Given the description of an element on the screen output the (x, y) to click on. 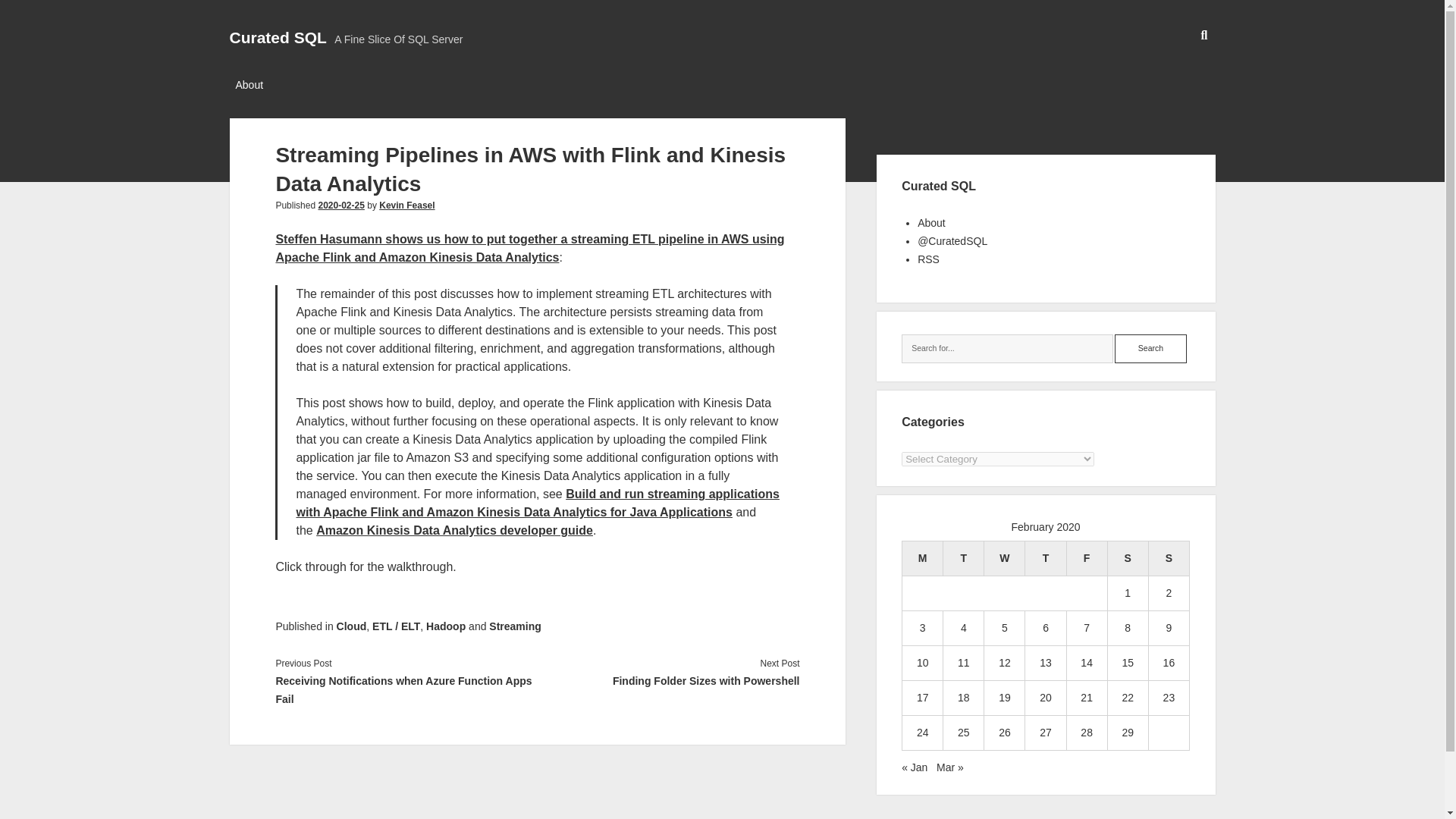
11 (963, 662)
Tuesday (963, 557)
Search (1150, 348)
Search for: (1007, 348)
Finding Folder Sizes with Powershell (668, 680)
Hadoop (445, 625)
Cloud (351, 625)
10 (922, 662)
Saturday (1127, 557)
Amazon Kinesis Data Analytics developer guide (453, 530)
Curated SQL (277, 36)
Monday (922, 557)
Wednesday (1004, 557)
2020-02-25 (340, 204)
Receiving Notifications when Azure Function Apps Fail (406, 689)
